Given the description of an element on the screen output the (x, y) to click on. 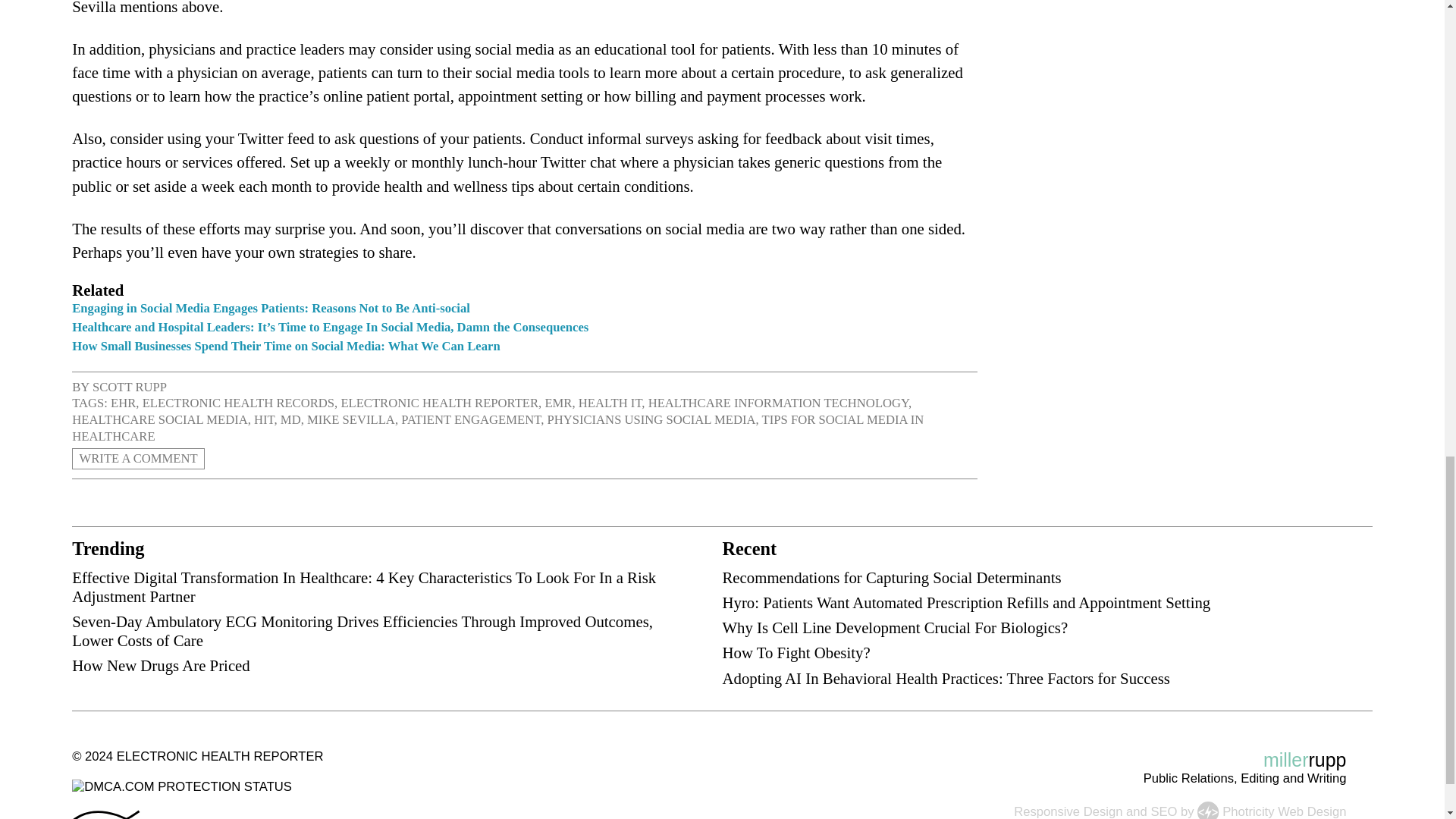
TIPS FOR SOCIAL MEDIA IN HEALTHCARE (497, 427)
WRITE A COMMENT (138, 458)
Recommendations for Capturing Social Determinants (891, 577)
MIKE SEVILLA (350, 419)
DMCA.com Protection Status (181, 786)
EHR (122, 402)
HEALTHCARE INFORMATION TECHNOLOGY (777, 402)
